Given the description of an element on the screen output the (x, y) to click on. 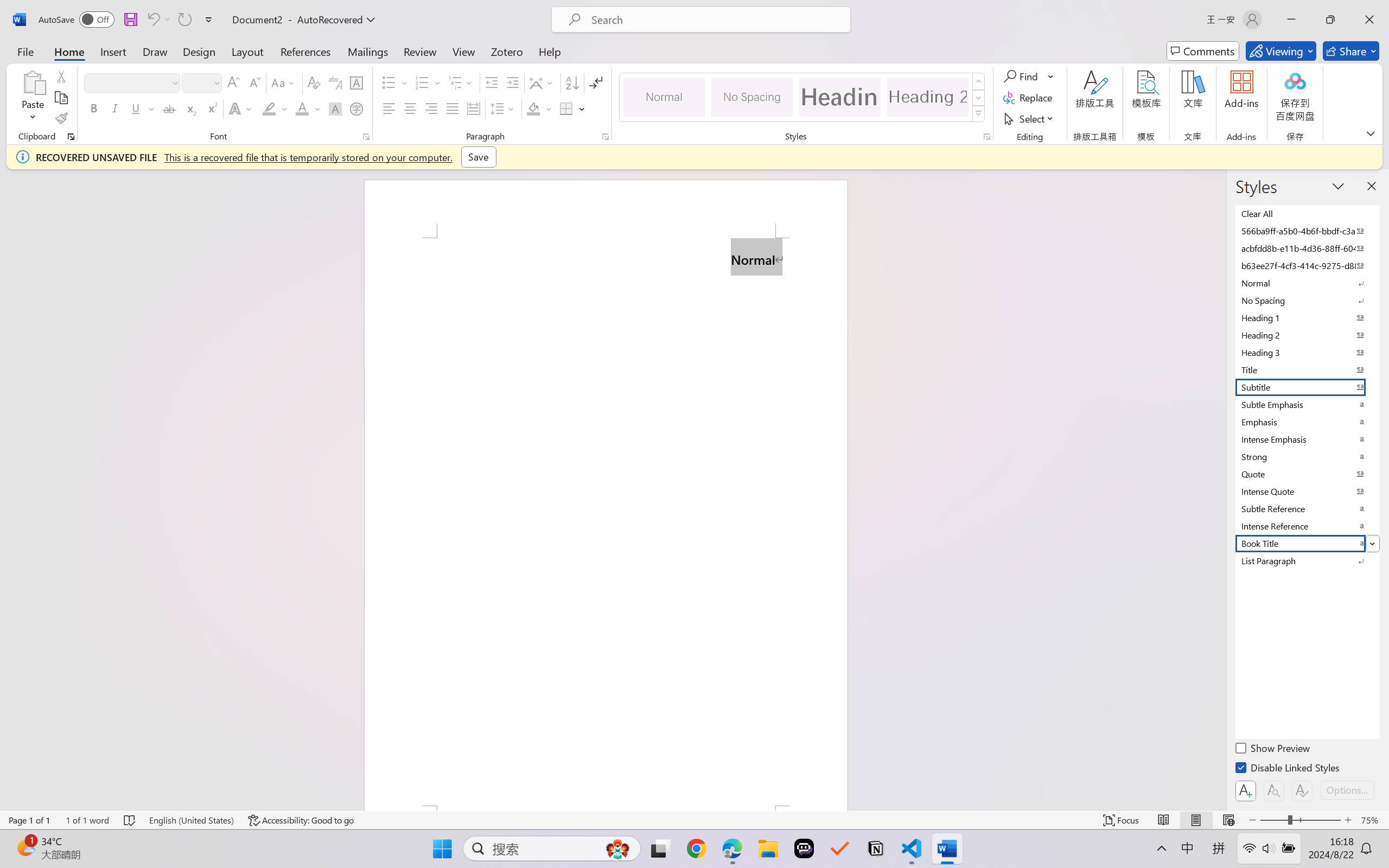
Styles... (986, 136)
Center (409, 108)
566ba9ff-a5b0-4b6f-bbdf-c3ab41993fc2 (1306, 230)
Intense Quote (1306, 490)
Heading 2 (927, 96)
Align Left (388, 108)
Font Color RGB(255, 0, 0) (302, 108)
Distributed (473, 108)
